Given the description of an element on the screen output the (x, y) to click on. 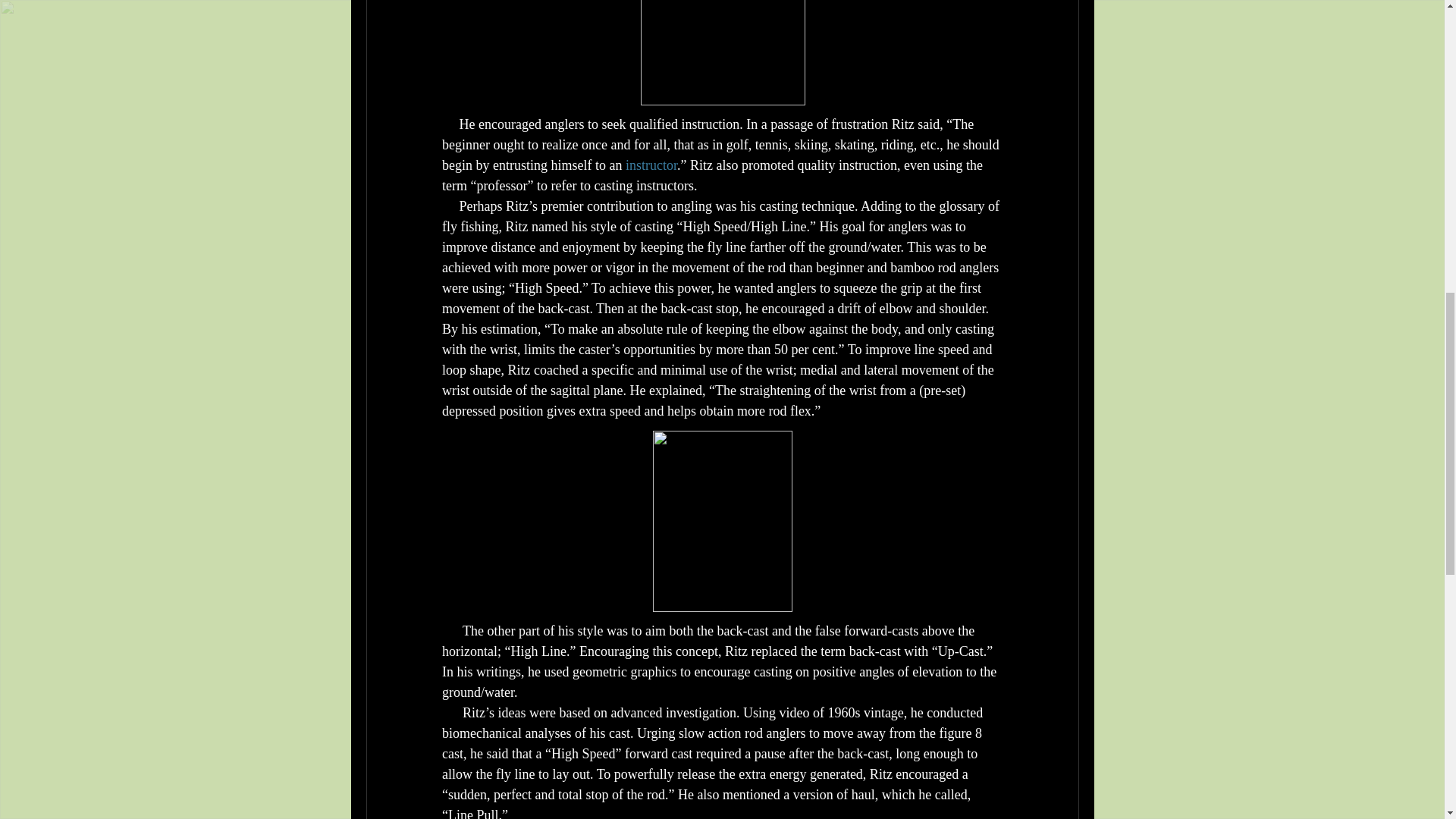
instructor (650, 165)
